Given the description of an element on the screen output the (x, y) to click on. 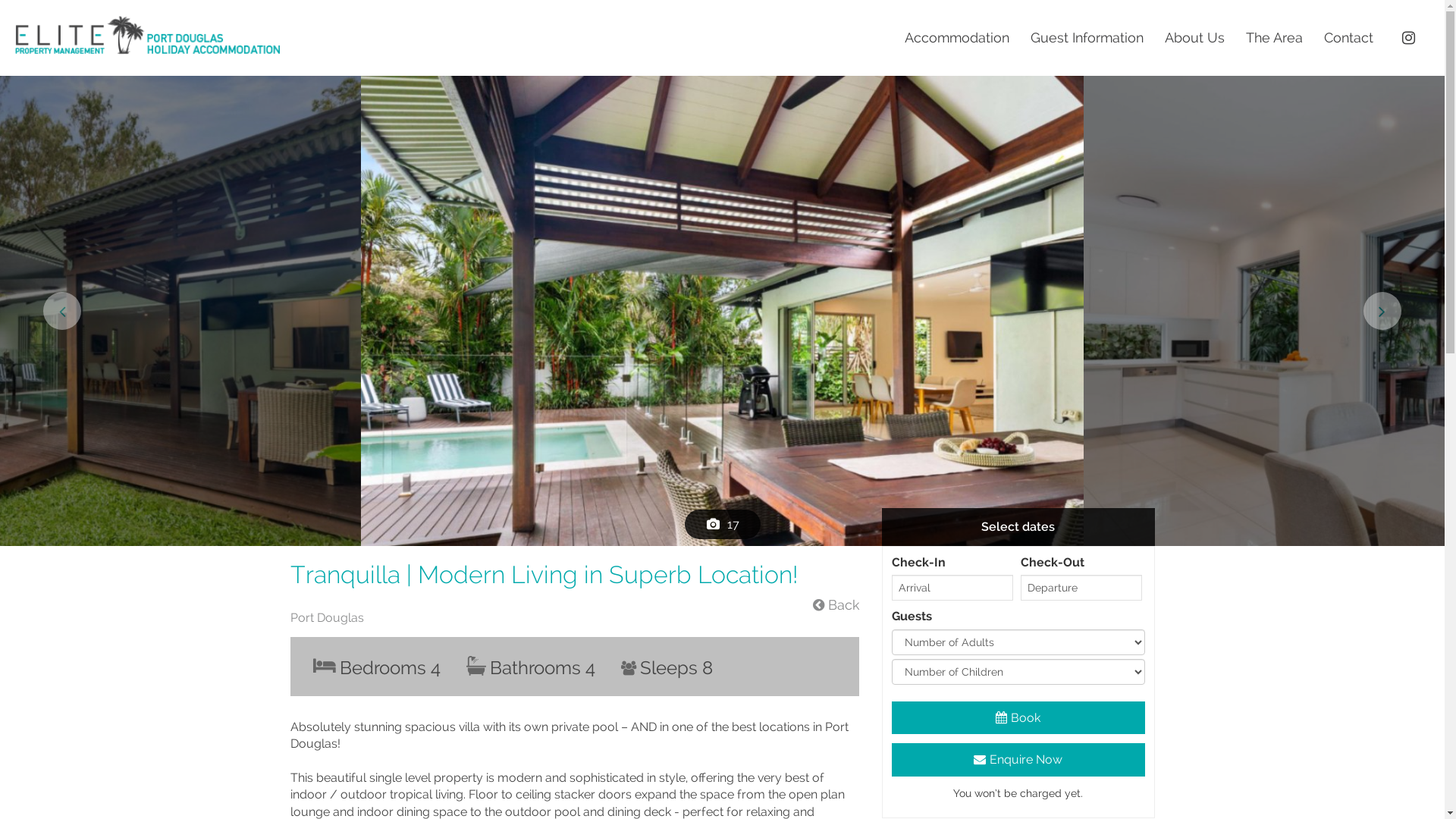
About Us Element type: text (1194, 37)
Find a Northern QLD Holiday Element type: hover (147, 45)
Contact Element type: text (1348, 37)
Guest Information Element type: text (1086, 37)
Accommodation Element type: text (956, 37)
Instagram Element type: text (1410, 40)
The Area Element type: text (1274, 37)
Back Element type: text (835, 604)
17 Element type: text (722, 524)
Enquire Now Element type: text (1018, 759)
